Given the description of an element on the screen output the (x, y) to click on. 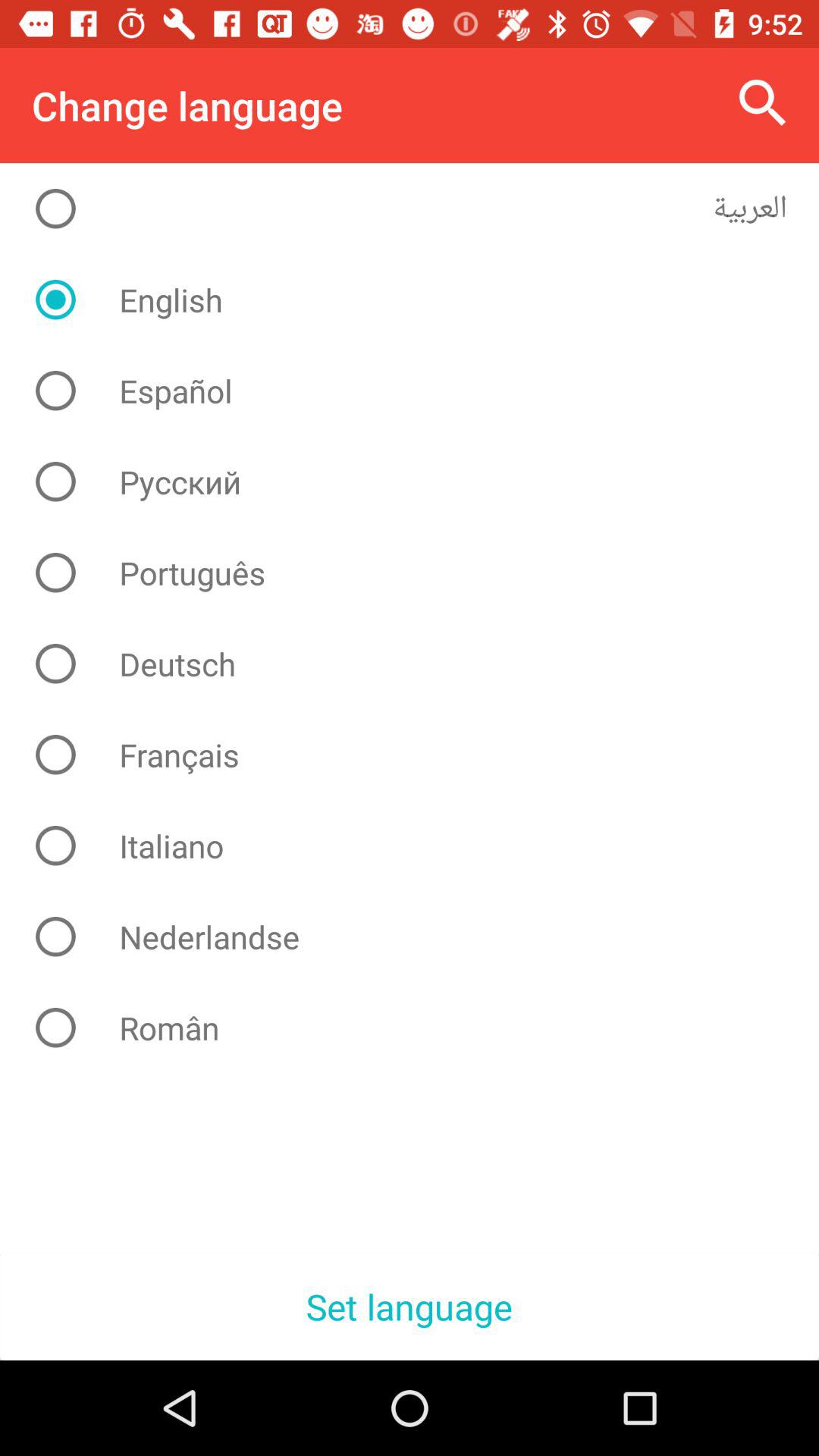
tap english item (421, 299)
